Given the description of an element on the screen output the (x, y) to click on. 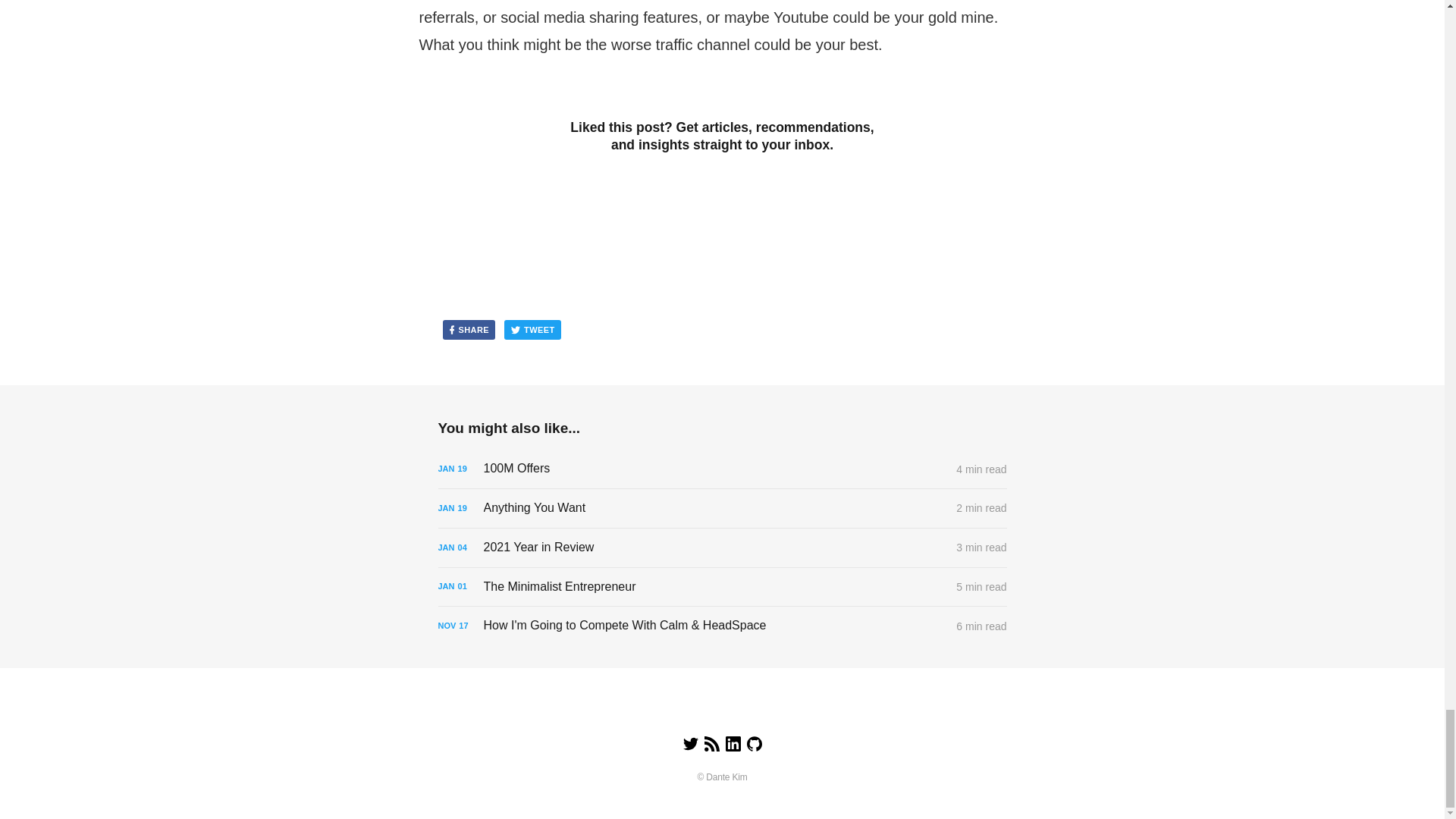
SHARE (469, 329)
TWEET (531, 329)
